Given the description of an element on the screen output the (x, y) to click on. 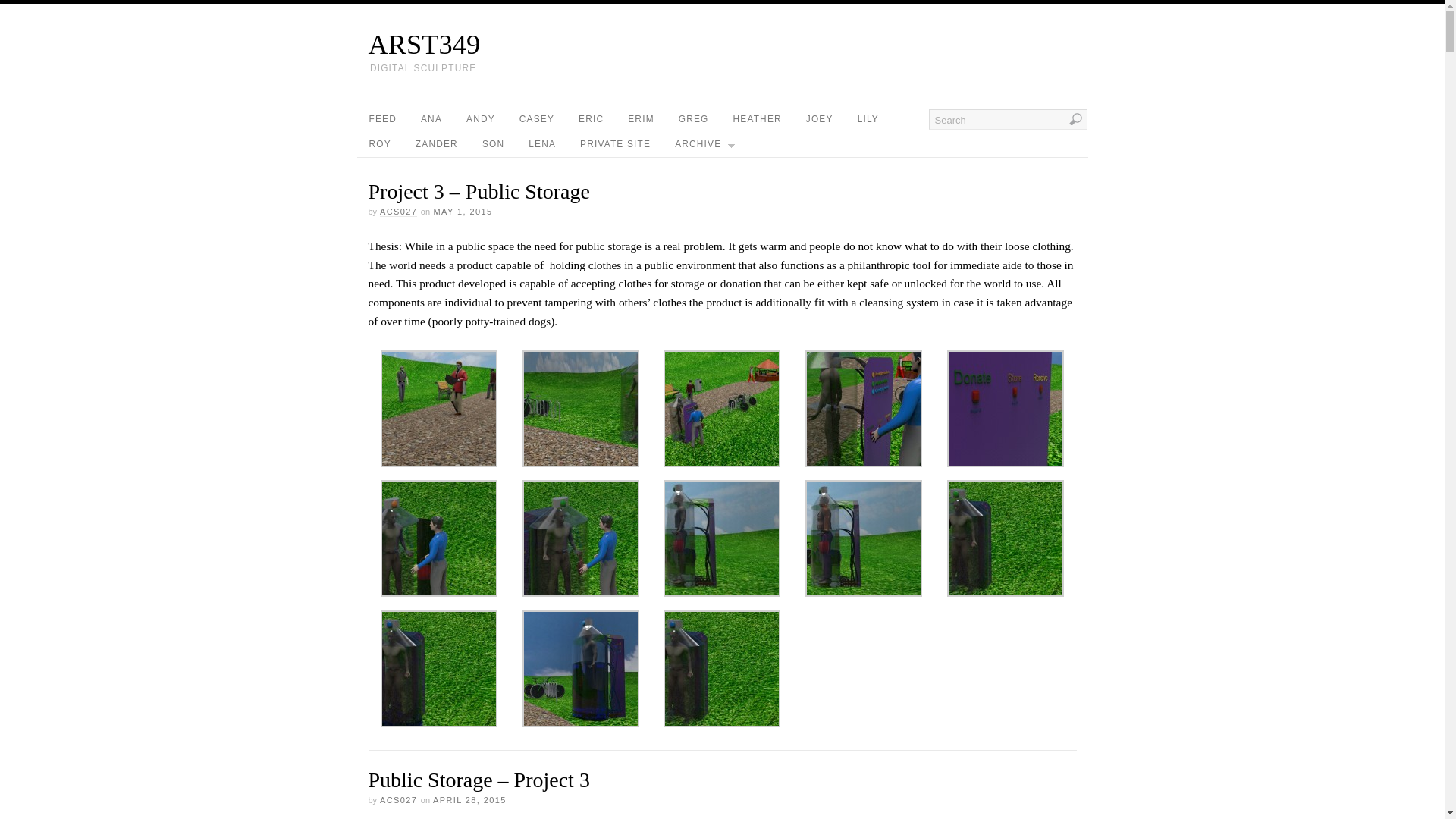
SON (493, 144)
ANDY (480, 119)
LILY (868, 119)
JOEY (819, 119)
FEED (381, 119)
Home (727, 44)
Search (1007, 118)
ROY (379, 144)
Posts by acs027 (398, 212)
ARST349 (727, 44)
ERIC (590, 119)
HEATHER (756, 119)
PRIVATE SITE (614, 144)
ANA (431, 119)
LENA (541, 144)
